Given the description of an element on the screen output the (x, y) to click on. 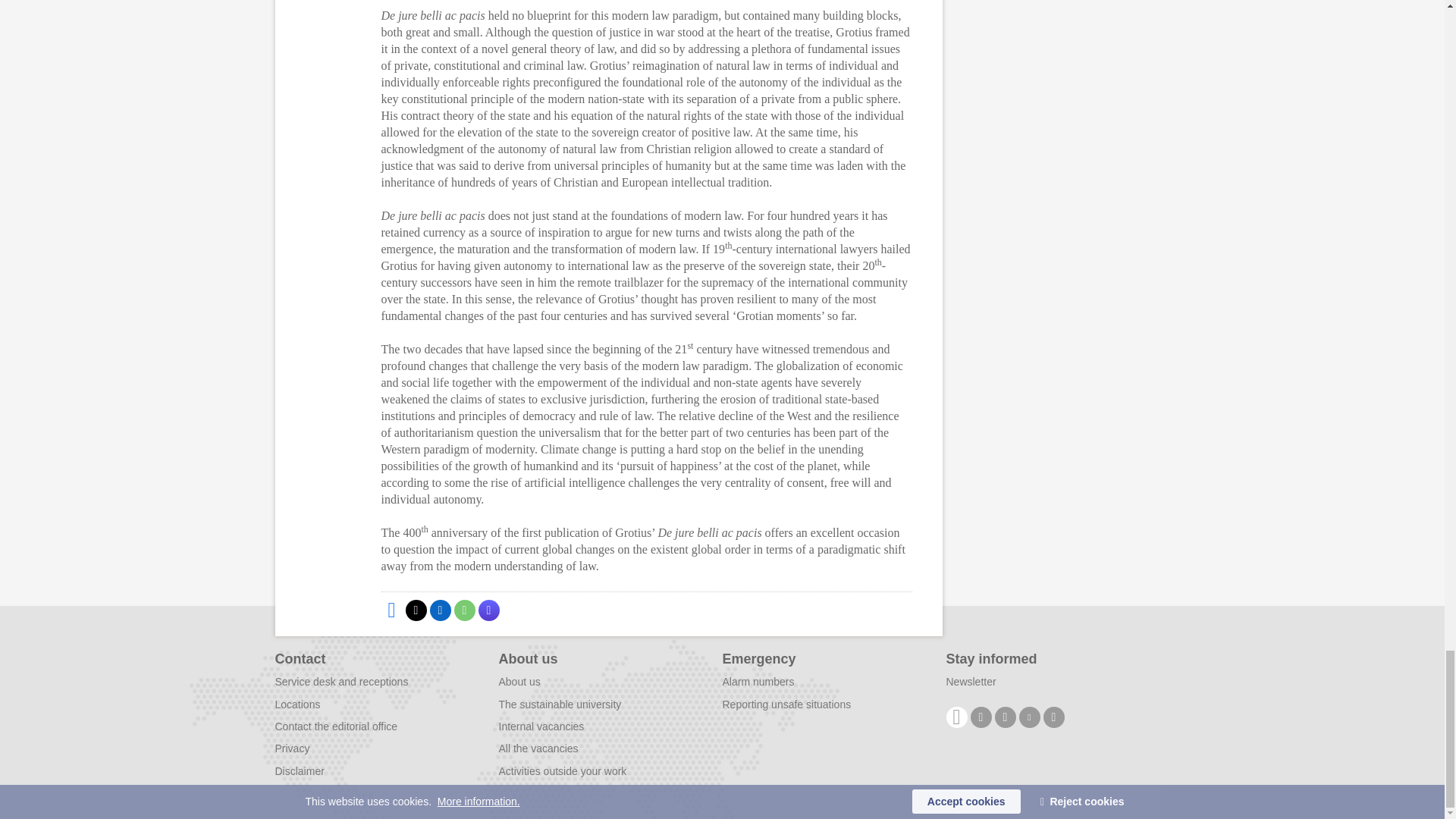
Share by WhatsApp (463, 609)
Share on LinkedIn (439, 609)
Share on X (415, 609)
Share by Mastodon (488, 609)
Share on Facebook (390, 609)
